Given the description of an element on the screen output the (x, y) to click on. 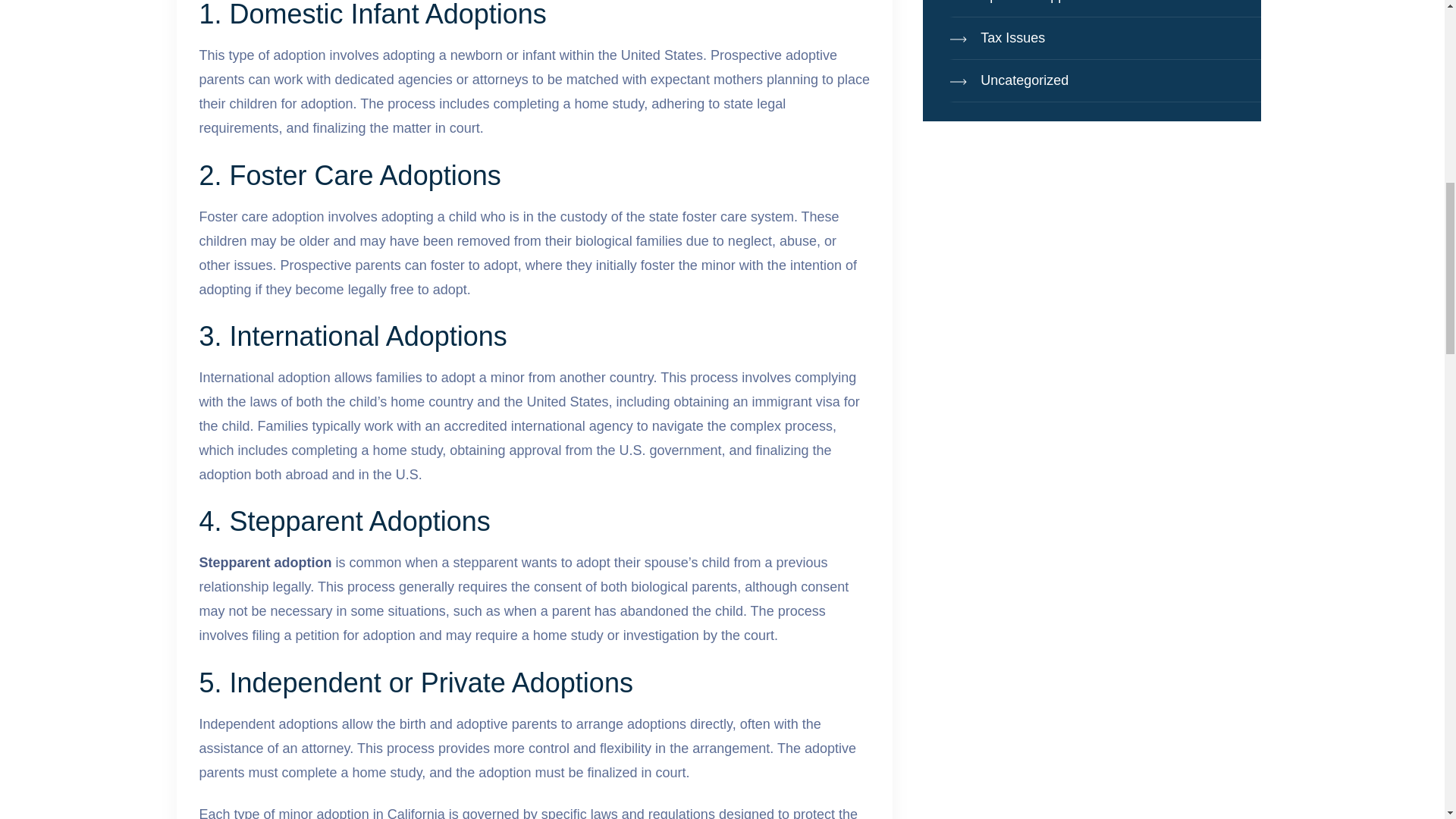
Stepparent adoption (264, 562)
